Given the description of an element on the screen output the (x, y) to click on. 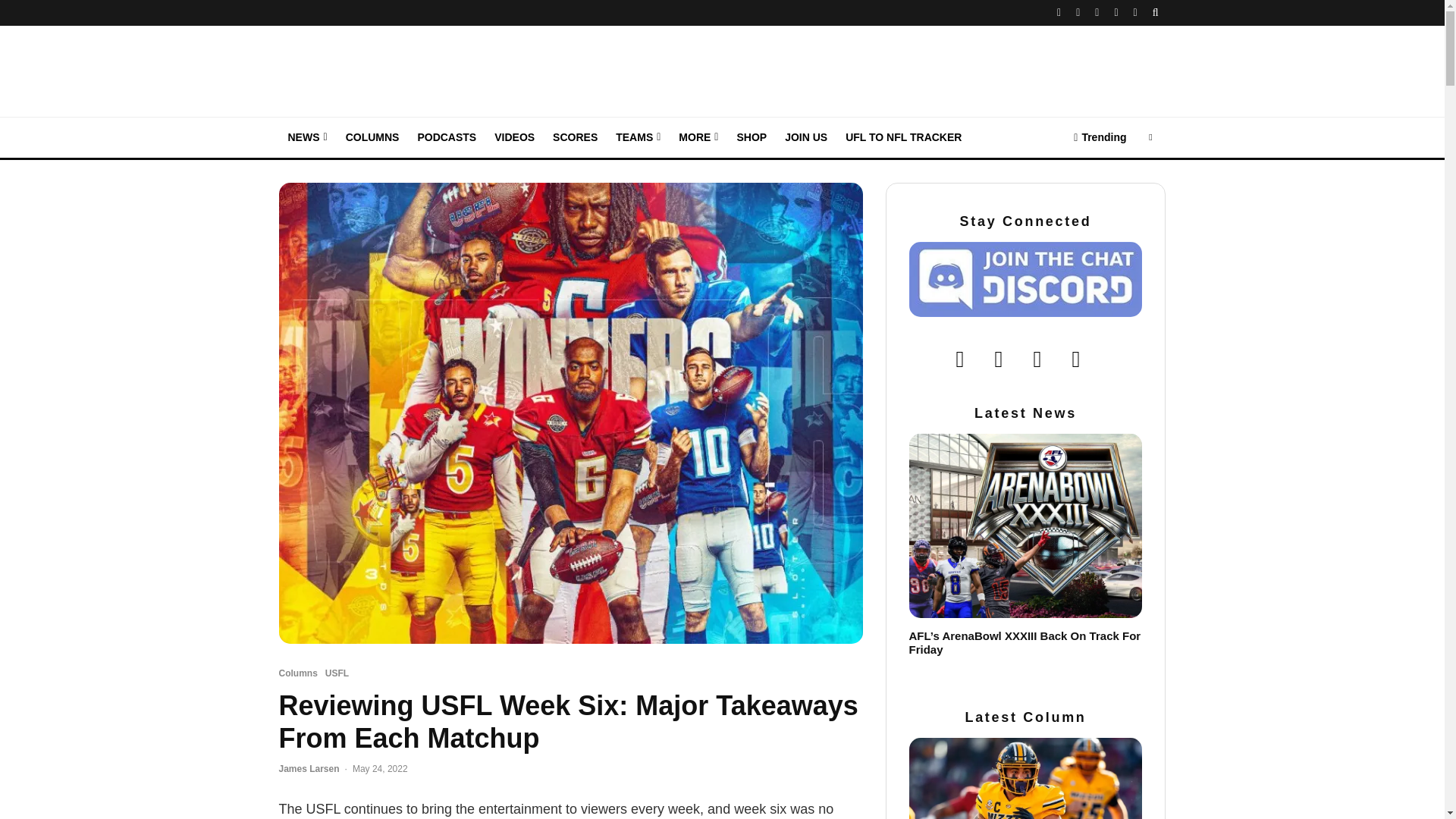
COLUMNS (372, 137)
PODCASTS (445, 137)
NEWS (307, 137)
Posts by James Larsen (309, 768)
